Given the description of an element on the screen output the (x, y) to click on. 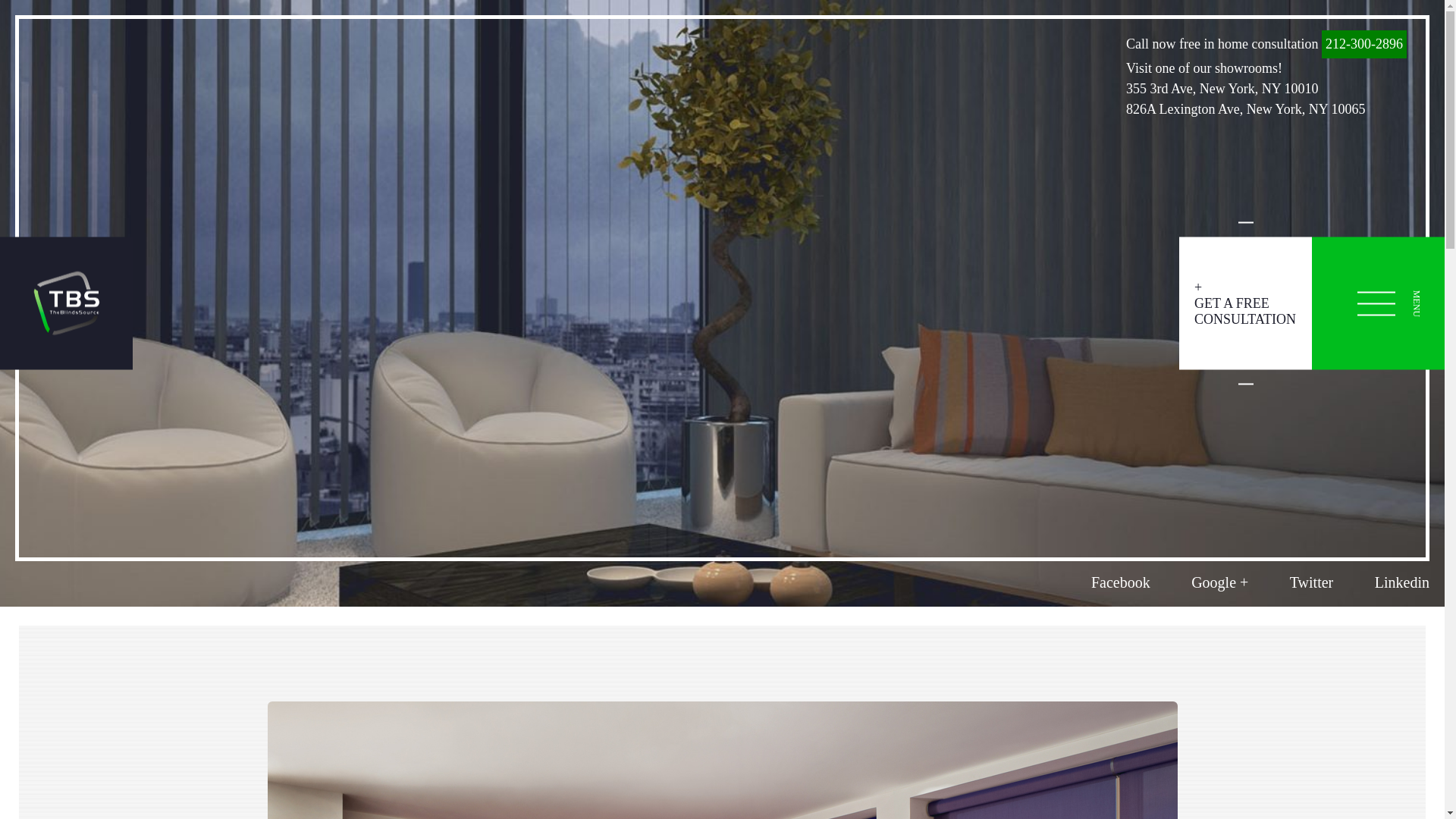
Twitter (1311, 582)
Linkedin (1401, 582)
212-300-2896 (1364, 44)
logo (66, 303)
Facebook (1120, 582)
